Given the description of an element on the screen output the (x, y) to click on. 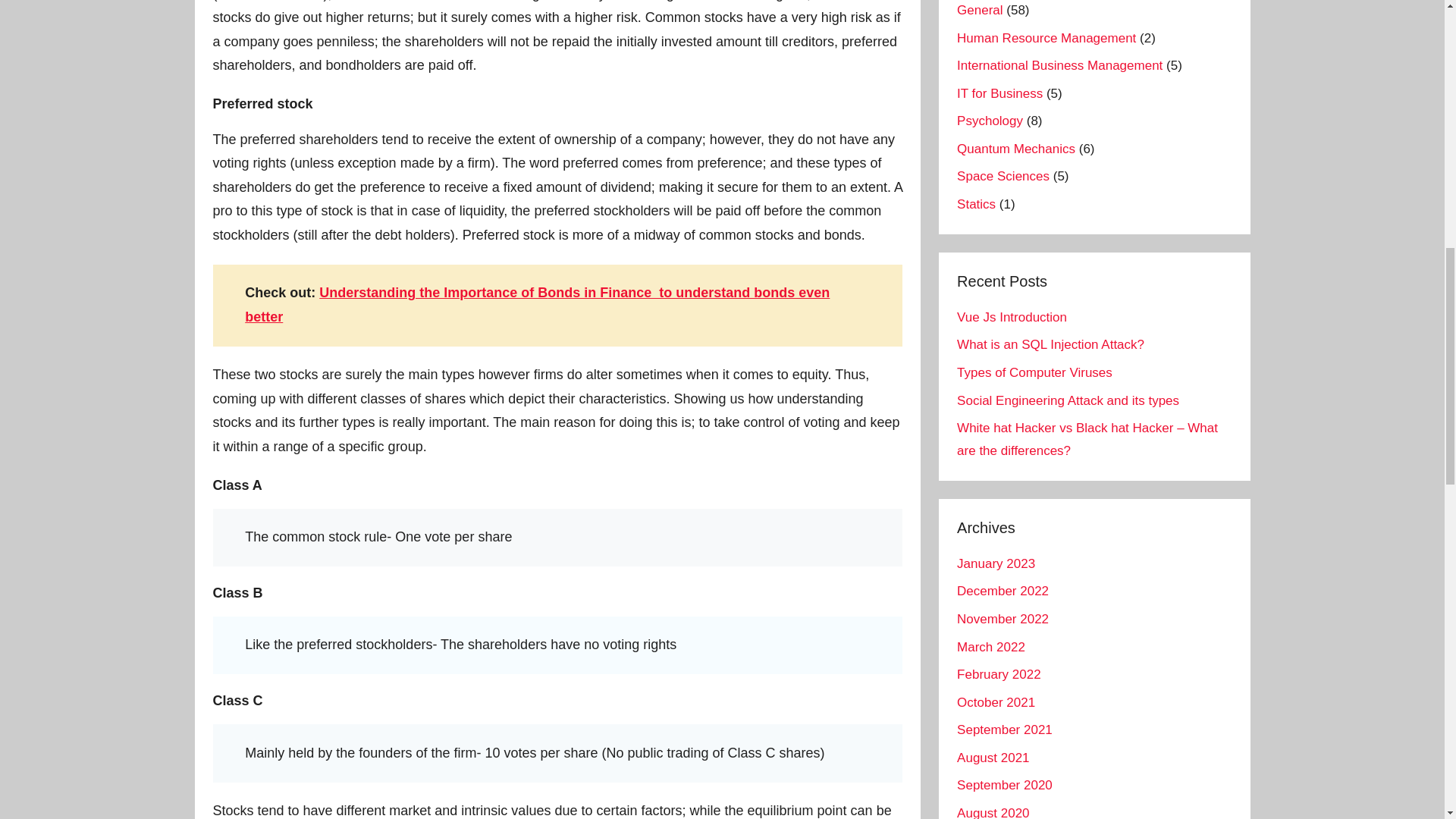
onds in Finance  to understand bonds even better (536, 304)
Understanding the Importance of B (432, 292)
